Given the description of an element on the screen output the (x, y) to click on. 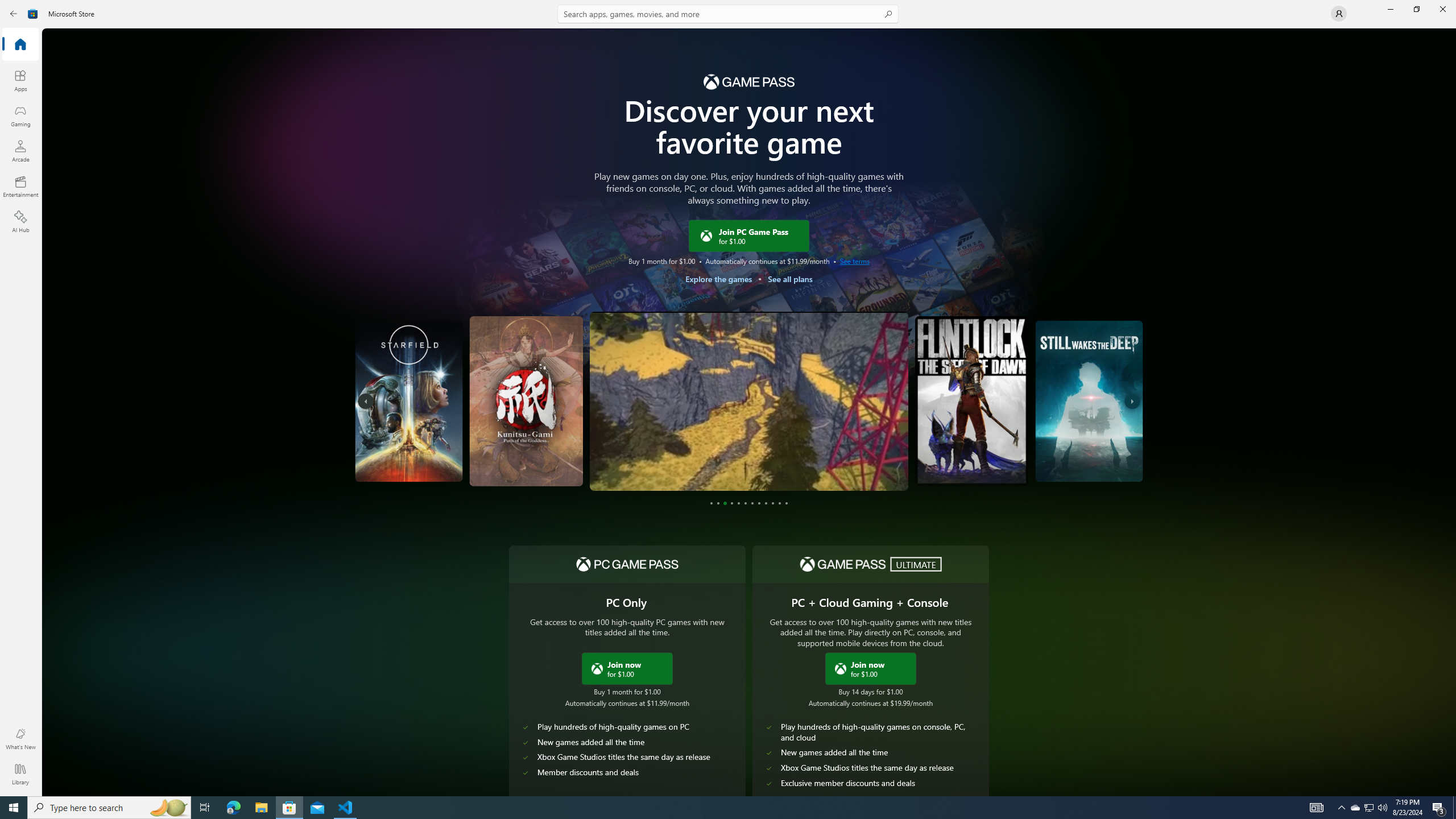
Explore the games (718, 278)
Page 11 (779, 503)
See all plans (789, 278)
AutomationID: PosterImage (1088, 400)
Pager (748, 503)
Page 2 (718, 503)
Page 4 (731, 503)
Back (13, 13)
Page 6 (745, 503)
Pause Trailer (887, 469)
Dungeons Of Hinterberg (748, 401)
